Given the description of an element on the screen output the (x, y) to click on. 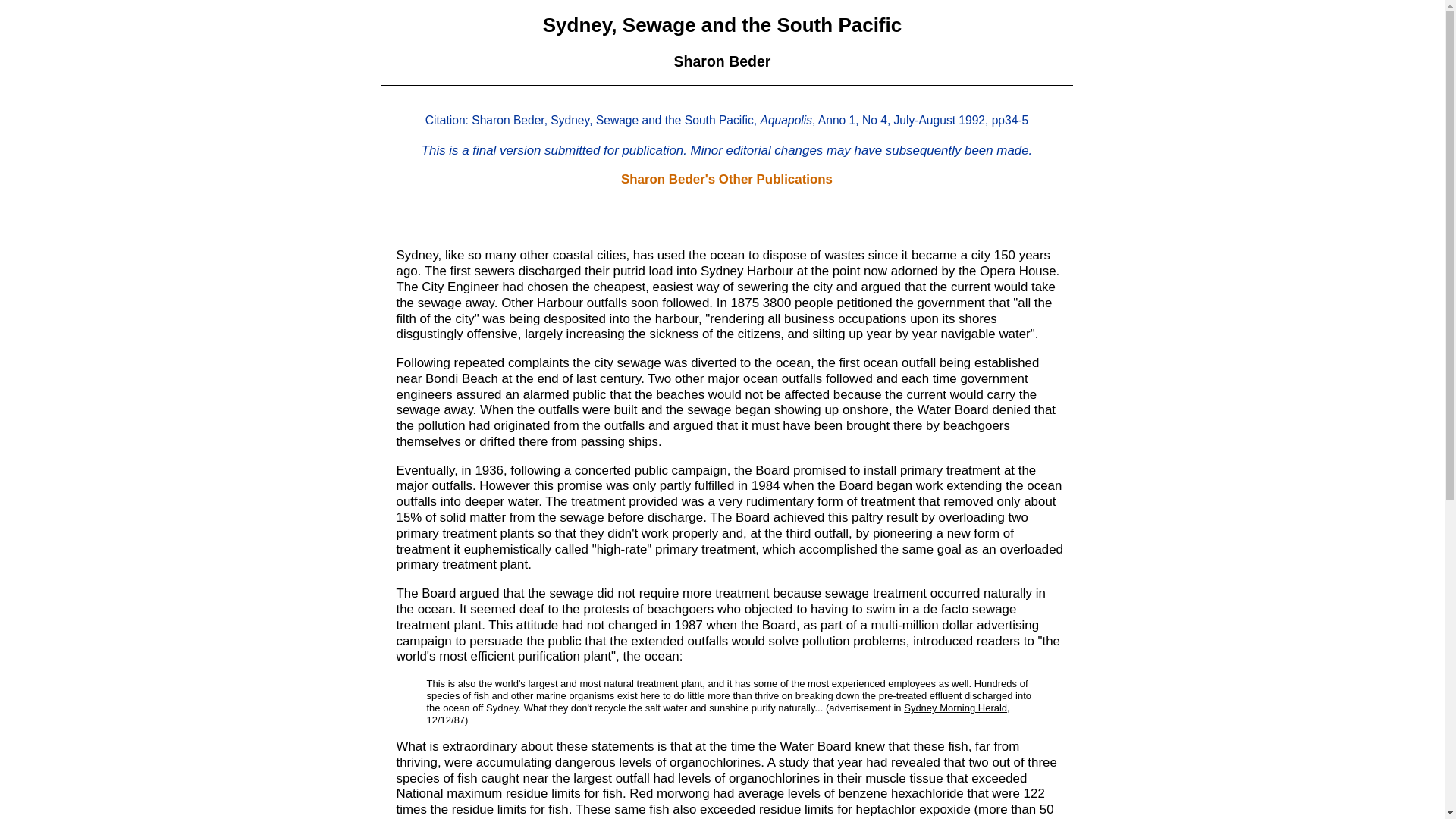
Sharon Beder's Other Publications (726, 178)
